Given the description of an element on the screen output the (x, y) to click on. 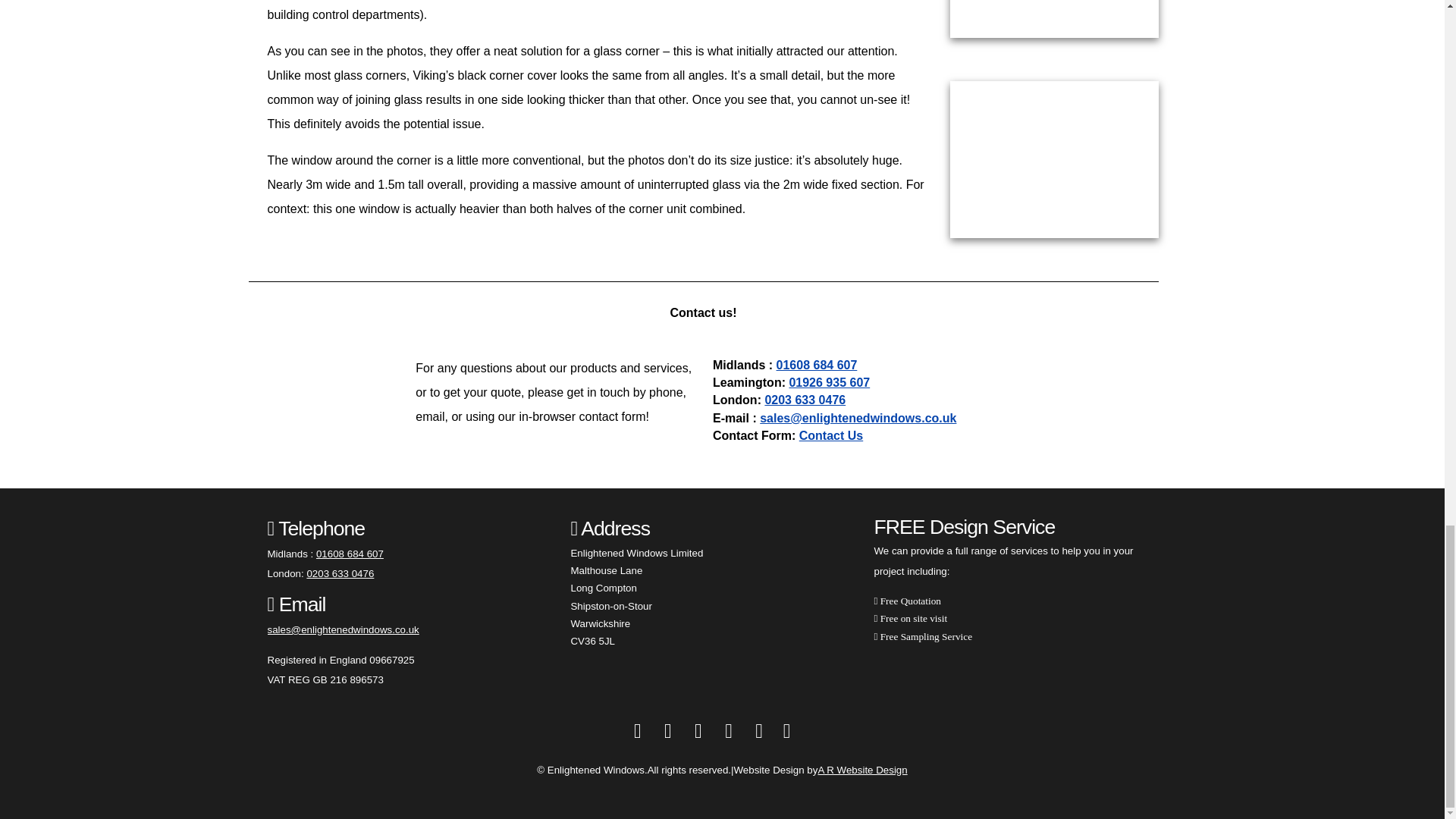
instagram (697, 731)
linkedin (728, 731)
Viking 21 Aluminium clad timber Glass to glass corner Window (1053, 159)
pintrest (786, 731)
houzz (758, 731)
twitter (667, 731)
facebook (637, 731)
